Given the description of an element on the screen output the (x, y) to click on. 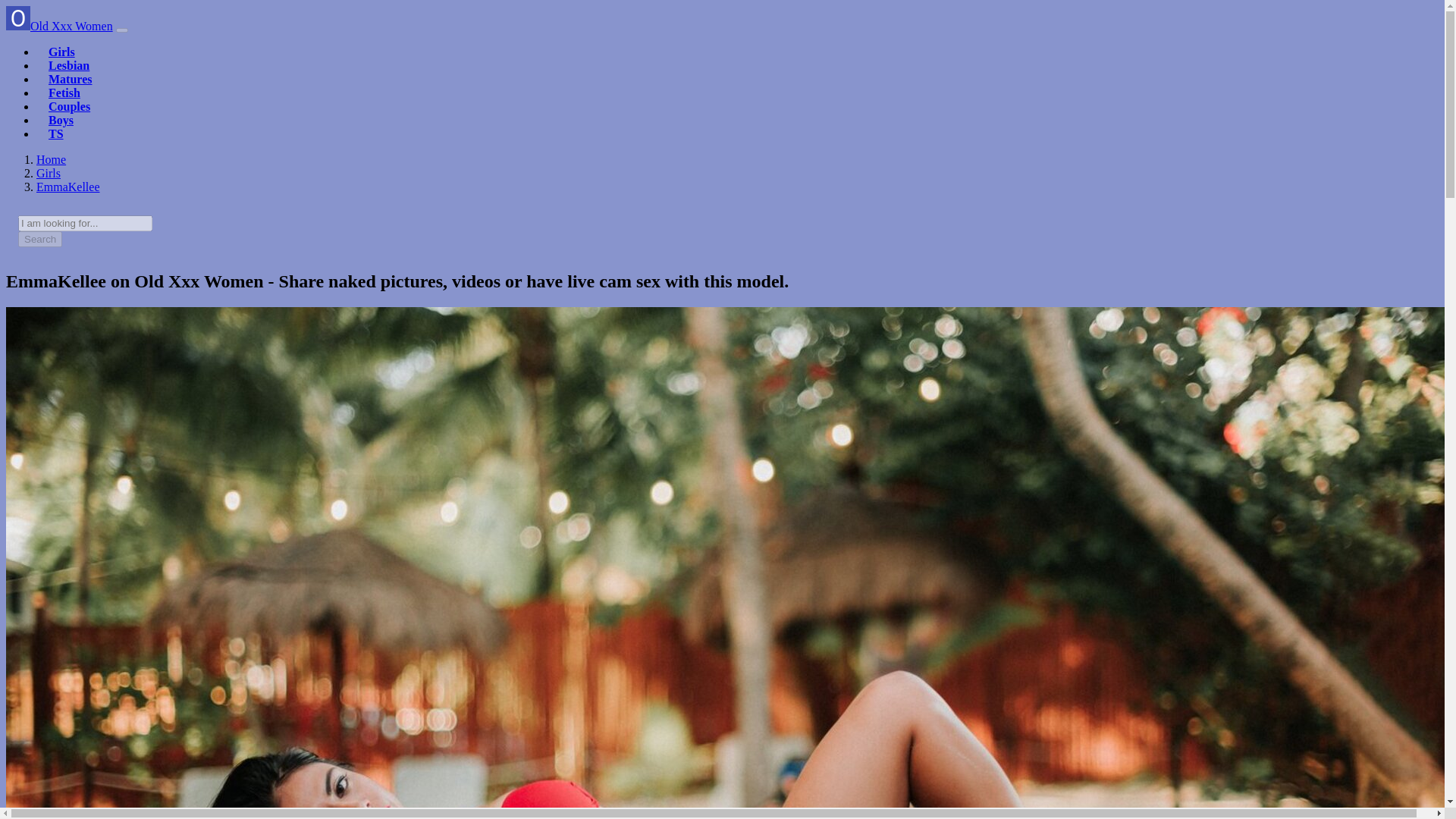
TS (56, 133)
Fetish (64, 92)
Lesbian (68, 65)
Girls (48, 173)
Girls (61, 51)
Girls (48, 173)
Fetish (64, 92)
EmmaKellee (68, 186)
Boys (61, 119)
Girls (61, 51)
Couples (69, 106)
Boys (61, 119)
TS (56, 133)
Lesbian (68, 65)
